Given the description of an element on the screen output the (x, y) to click on. 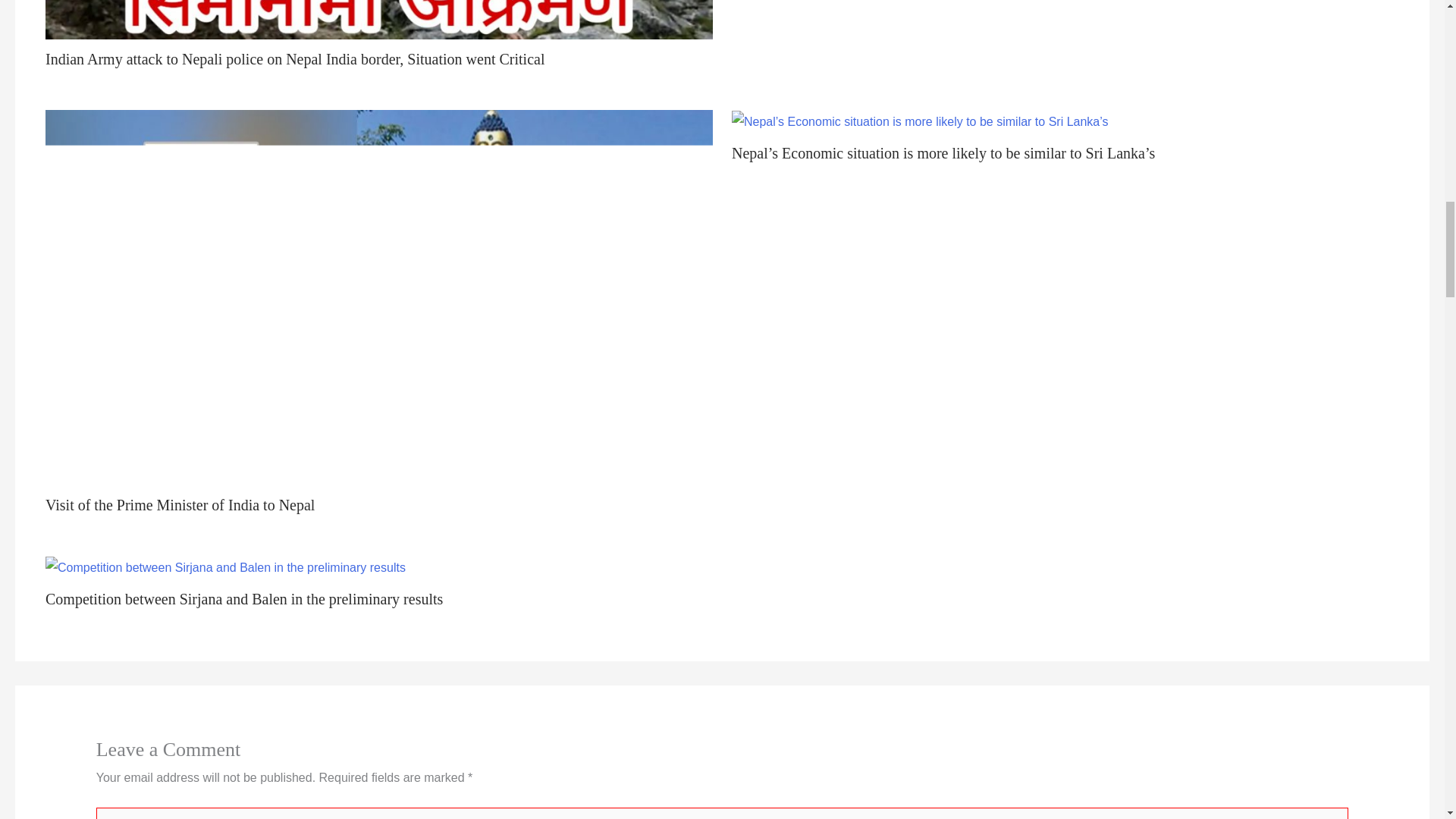
Visit of the Prime Minister of India to Nepal (179, 504)
